Given the description of an element on the screen output the (x, y) to click on. 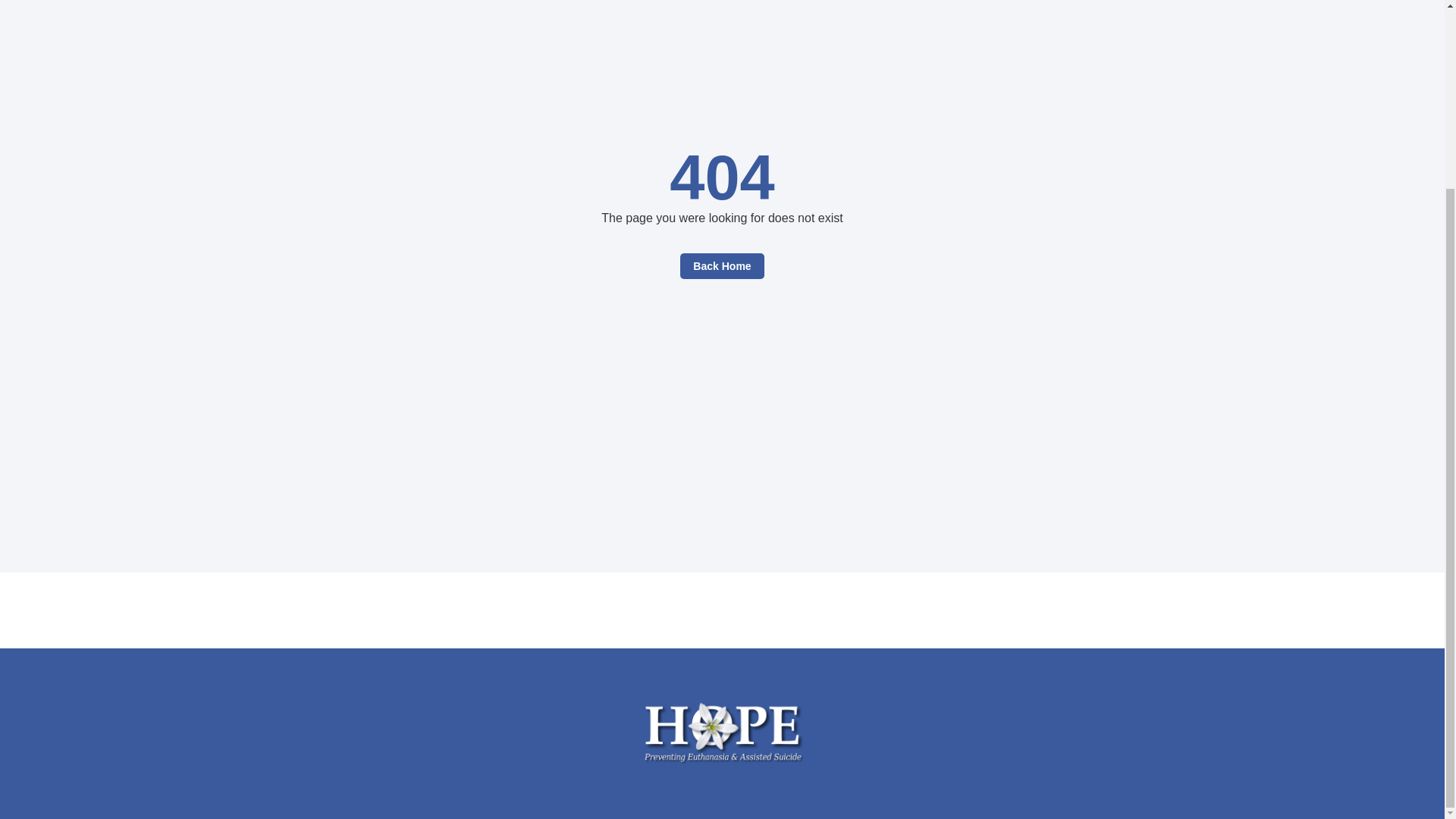
Back Home (720, 266)
